Given the description of an element on the screen output the (x, y) to click on. 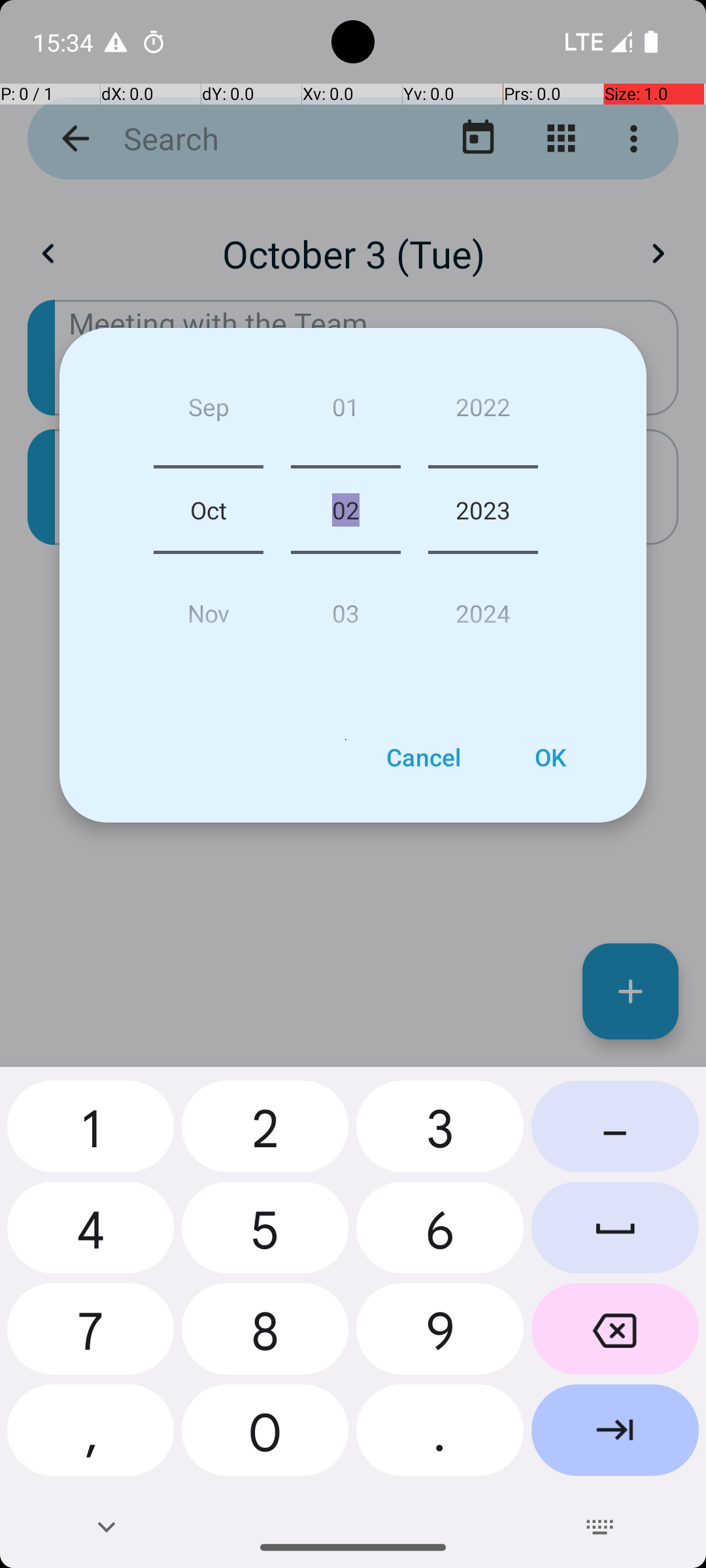
Sep Element type: android.widget.Button (208, 411)
Oct Element type: android.widget.EditText (208, 509)
Nov Element type: android.widget.Button (208, 607)
01 Element type: android.widget.Button (345, 411)
02 Element type: android.widget.EditText (345, 509)
03 Element type: android.widget.Button (345, 607)
2022 Element type: android.widget.Button (482, 411)
2024 Element type: android.widget.Button (482, 607)
Dash Element type: android.widget.FrameLayout (614, 1130)
